Given the description of an element on the screen output the (x, y) to click on. 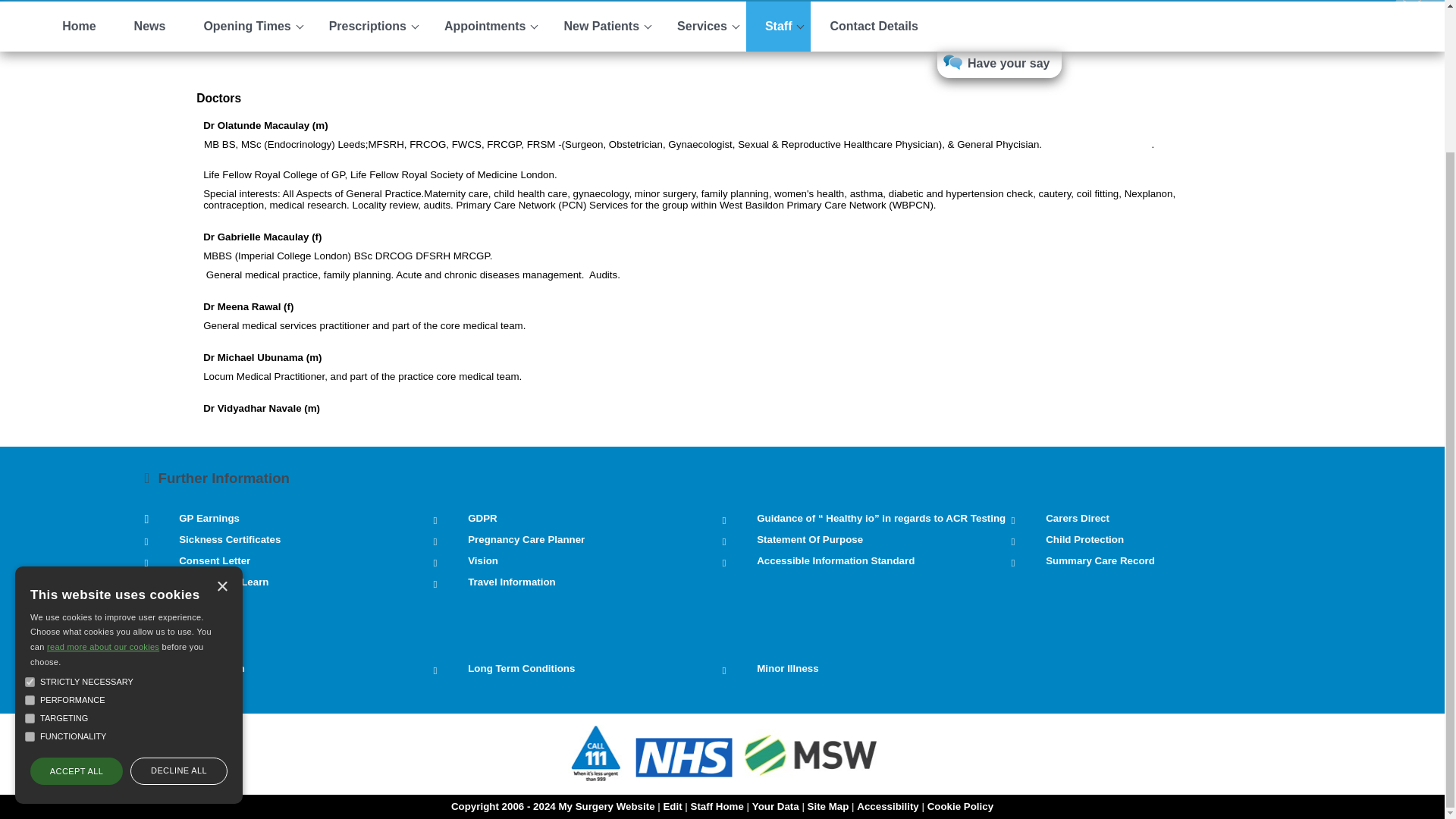
targeting (29, 542)
New Patients (601, 26)
Opening Times (246, 26)
NHS Choices (684, 777)
DECLINE ALL (179, 595)
read more about our cookies (102, 470)
News (149, 26)
ACCEPT ALL (76, 595)
Contact Details (873, 26)
performance (29, 524)
Appointments (484, 26)
Services (701, 26)
Staff (777, 26)
